Given the description of an element on the screen output the (x, y) to click on. 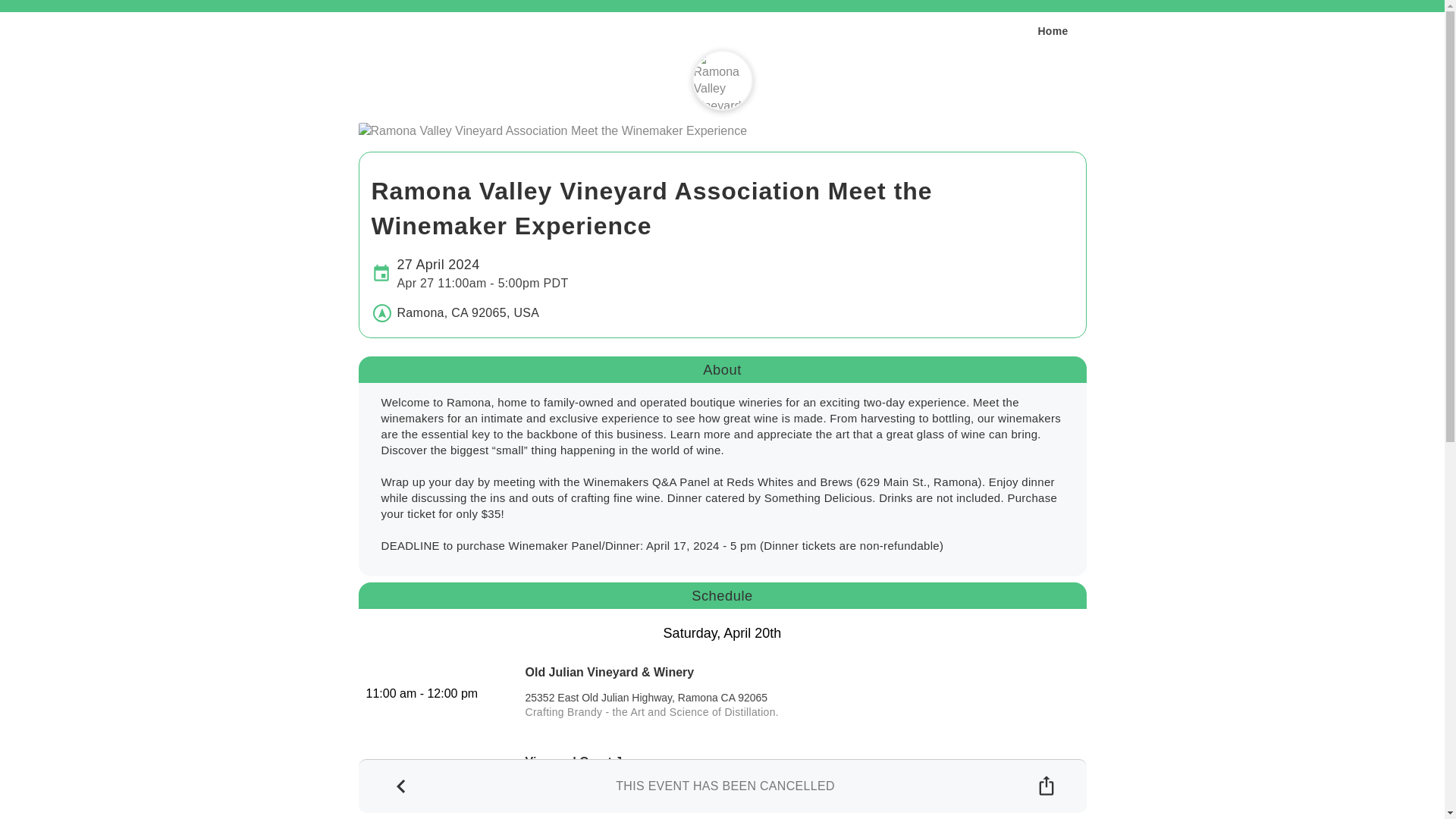
Home (473, 273)
Ramona Valley Vineyard Association (1051, 30)
Ramona, CA 92065, USA (722, 79)
